Given the description of an element on the screen output the (x, y) to click on. 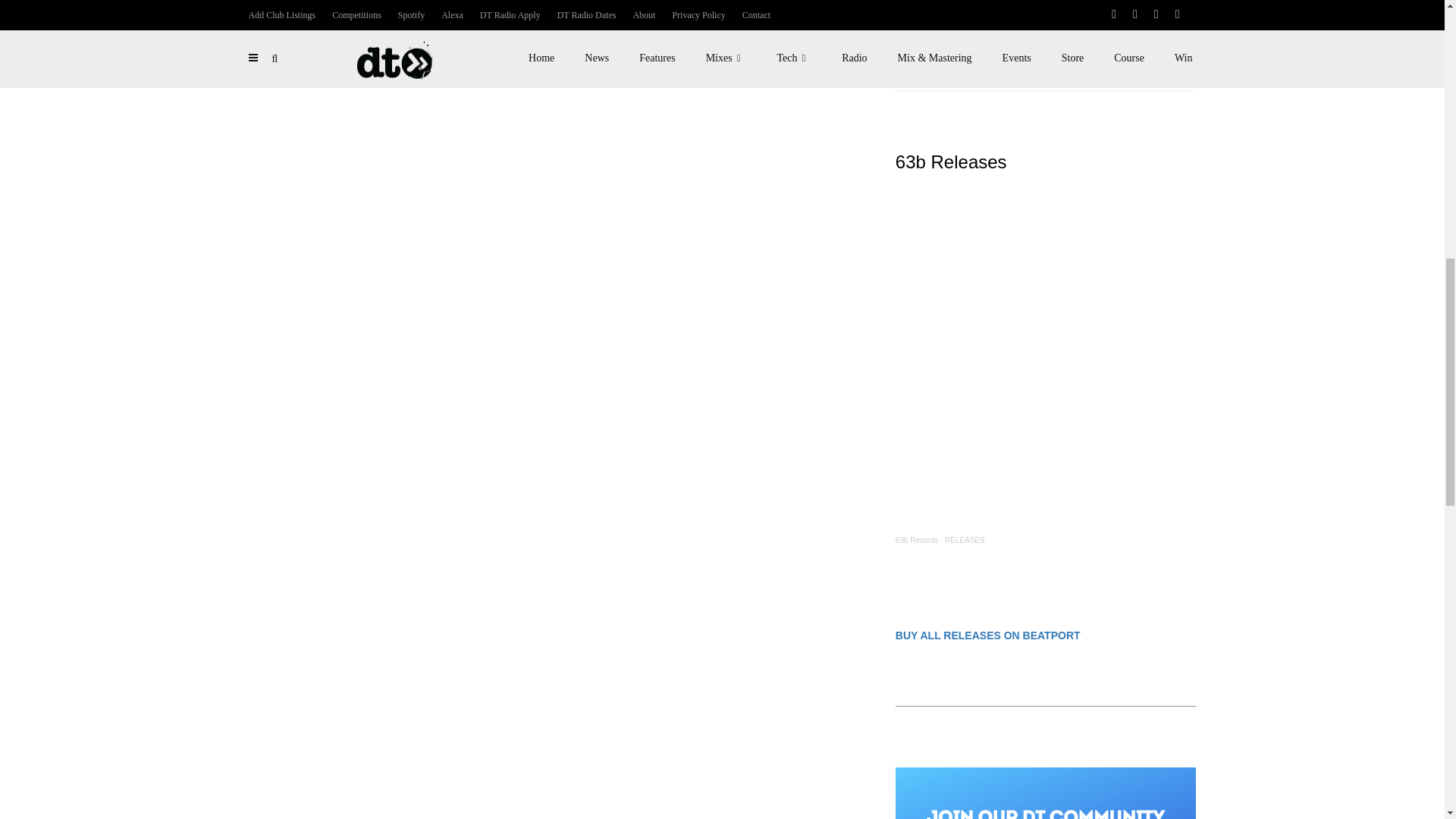
RELEASES (964, 540)
63b Records (917, 540)
Data Transmission (926, 25)
Official Releases (992, 25)
